Given the description of an element on the screen output the (x, y) to click on. 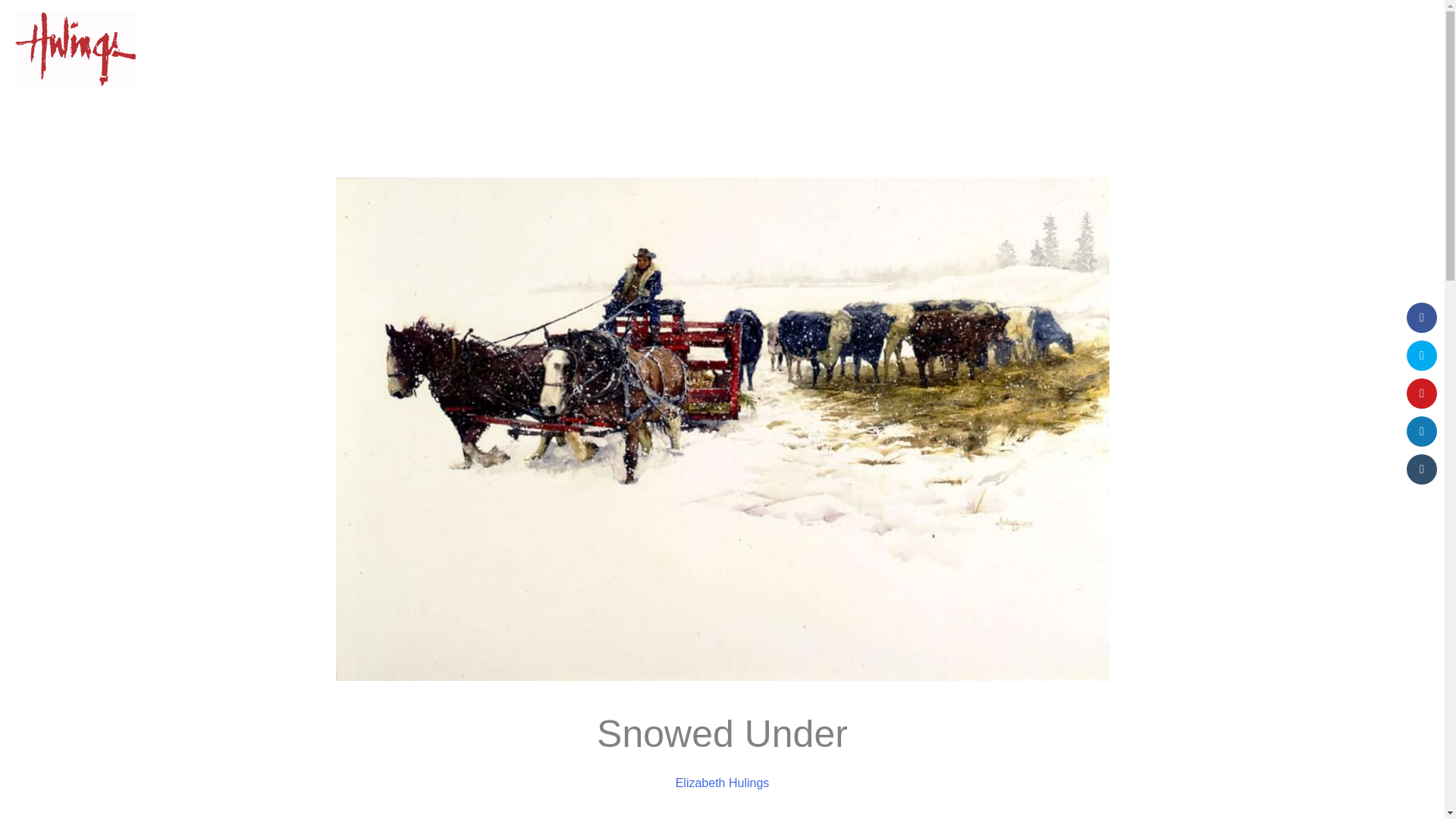
Buy (998, 49)
Art (1253, 49)
Buy Clark Hulings Paintings (998, 49)
About (1310, 49)
License (1194, 49)
Store (1377, 49)
License Art by Clark Hulings (1194, 49)
The Art of Master Painter Clark Hulings (1253, 49)
Authenticate (1115, 49)
Authenticate a Clark Hulings Painting (1115, 49)
